Given the description of an element on the screen output the (x, y) to click on. 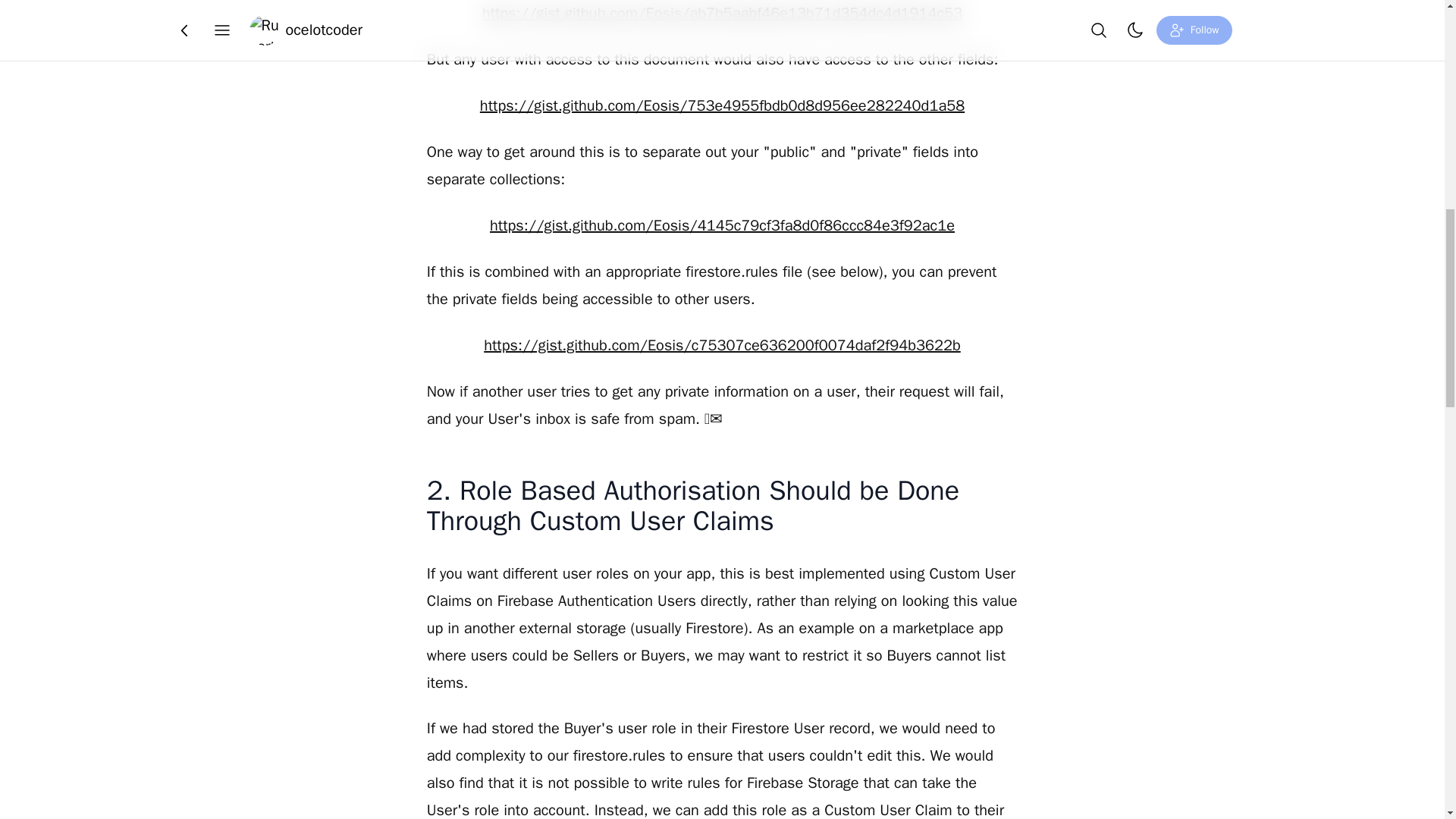
Add Bookmark (743, 24)
